Given the description of an element on the screen output the (x, y) to click on. 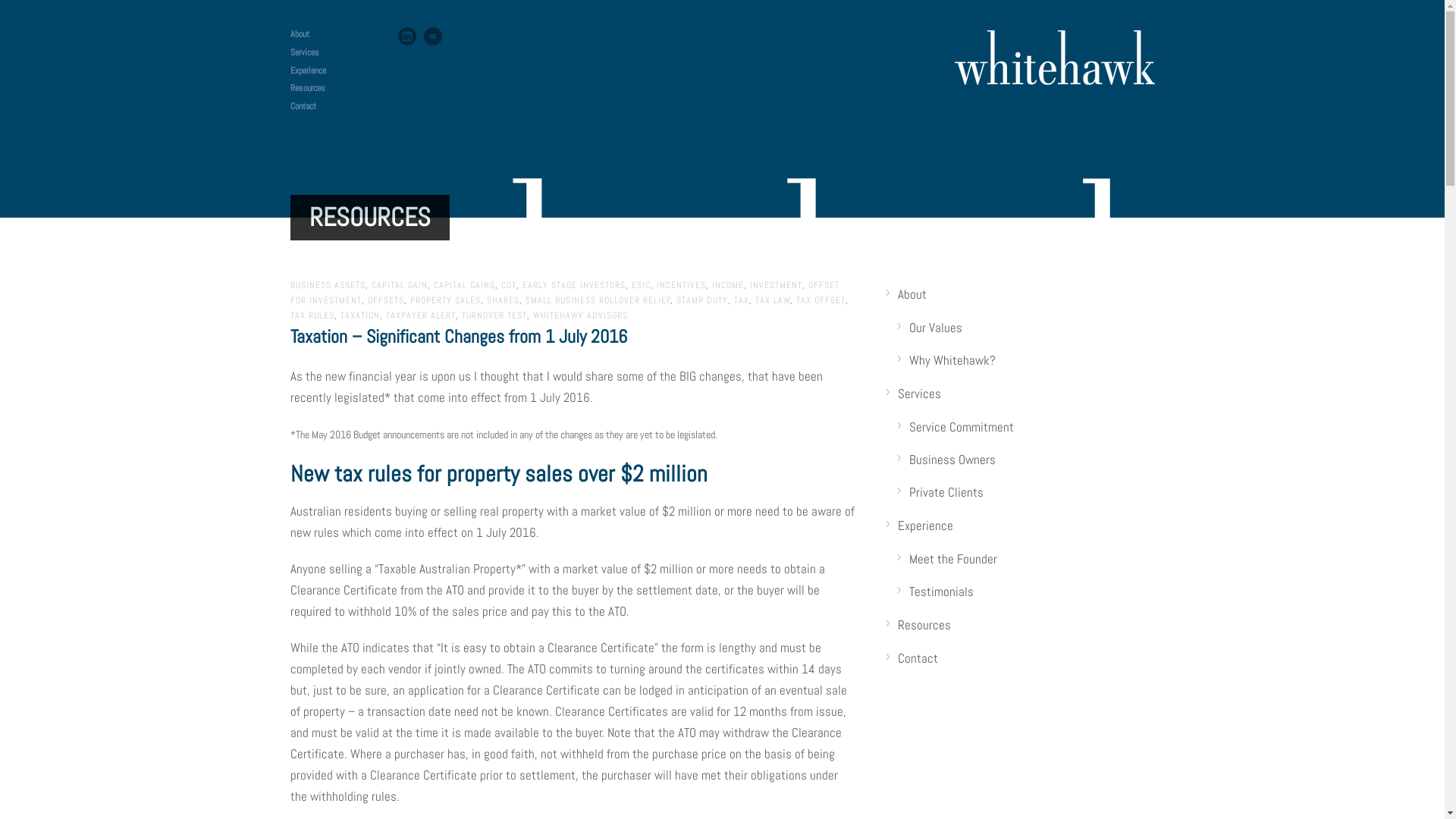
SHARES Element type: text (502, 300)
Our Values Element type: text (935, 327)
About Element type: text (911, 293)
TURNOVER TEST Element type: text (493, 315)
Services Element type: text (303, 52)
Contact Element type: text (302, 106)
Private Clients Element type: text (946, 491)
Business Owners Element type: text (952, 459)
Testimonials Element type: text (941, 591)
TAXATION Element type: text (359, 315)
Experience Element type: text (307, 70)
TAX Element type: text (741, 300)
BUSINESS ASSETS Element type: text (326, 285)
TAXPAYER ALERT Element type: text (420, 315)
TAX RULES Element type: text (311, 315)
EARLY STAGE INVESTORS Element type: text (572, 285)
Resources Element type: text (923, 624)
Why Whitehawk? Element type: text (952, 359)
Resources Element type: text (306, 87)
CAPITAL GAINS Element type: text (464, 285)
TAX OFFSET Element type: text (820, 300)
PROPERTY SALES Element type: text (444, 300)
CAPITAL GAIN Element type: text (399, 285)
STAMP DUTY Element type: text (702, 300)
Service Commitment Element type: text (961, 426)
OFFSETS Element type: text (385, 300)
Services Element type: text (919, 393)
ESIC Element type: text (639, 285)
INCENTIVES Element type: text (681, 285)
INVESTMENT Element type: text (775, 285)
WHITEHAWK ADVISORS Element type: text (579, 315)
OFFSET FOR INVESTMENT Element type: text (563, 292)
Experience Element type: text (925, 525)
Meet the Founder Element type: text (953, 558)
TAX LAW Element type: text (772, 300)
SMALL BUSINESS ROLLOVER RELIEF Element type: text (597, 300)
INCOME Element type: text (727, 285)
CGT Element type: text (507, 285)
Contact Element type: text (917, 657)
About Element type: text (298, 34)
